Given the description of an element on the screen output the (x, y) to click on. 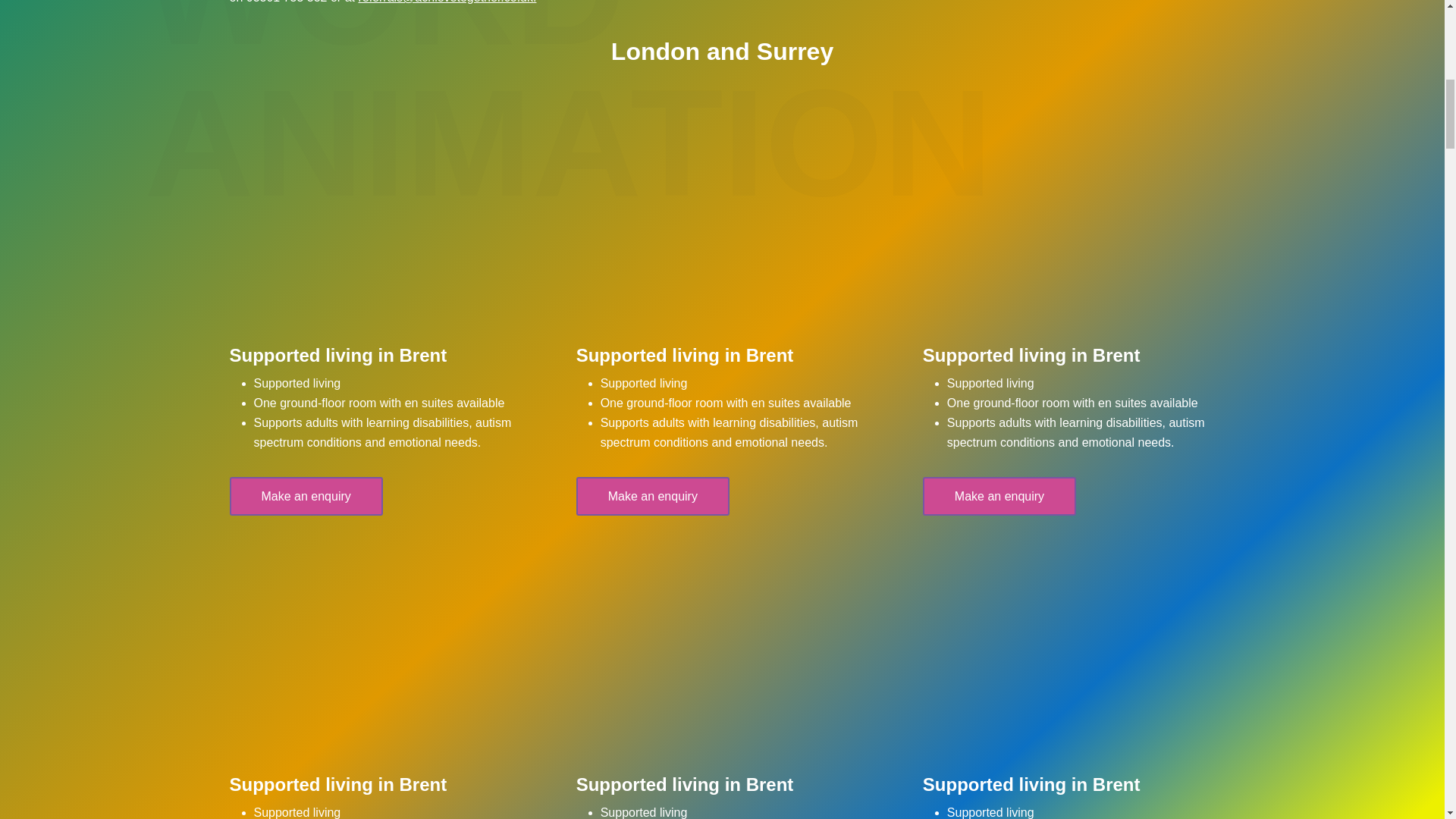
Make an enquiry (999, 495)
Make an enquiry (652, 495)
Make an enquiry (304, 495)
